Given the description of an element on the screen output the (x, y) to click on. 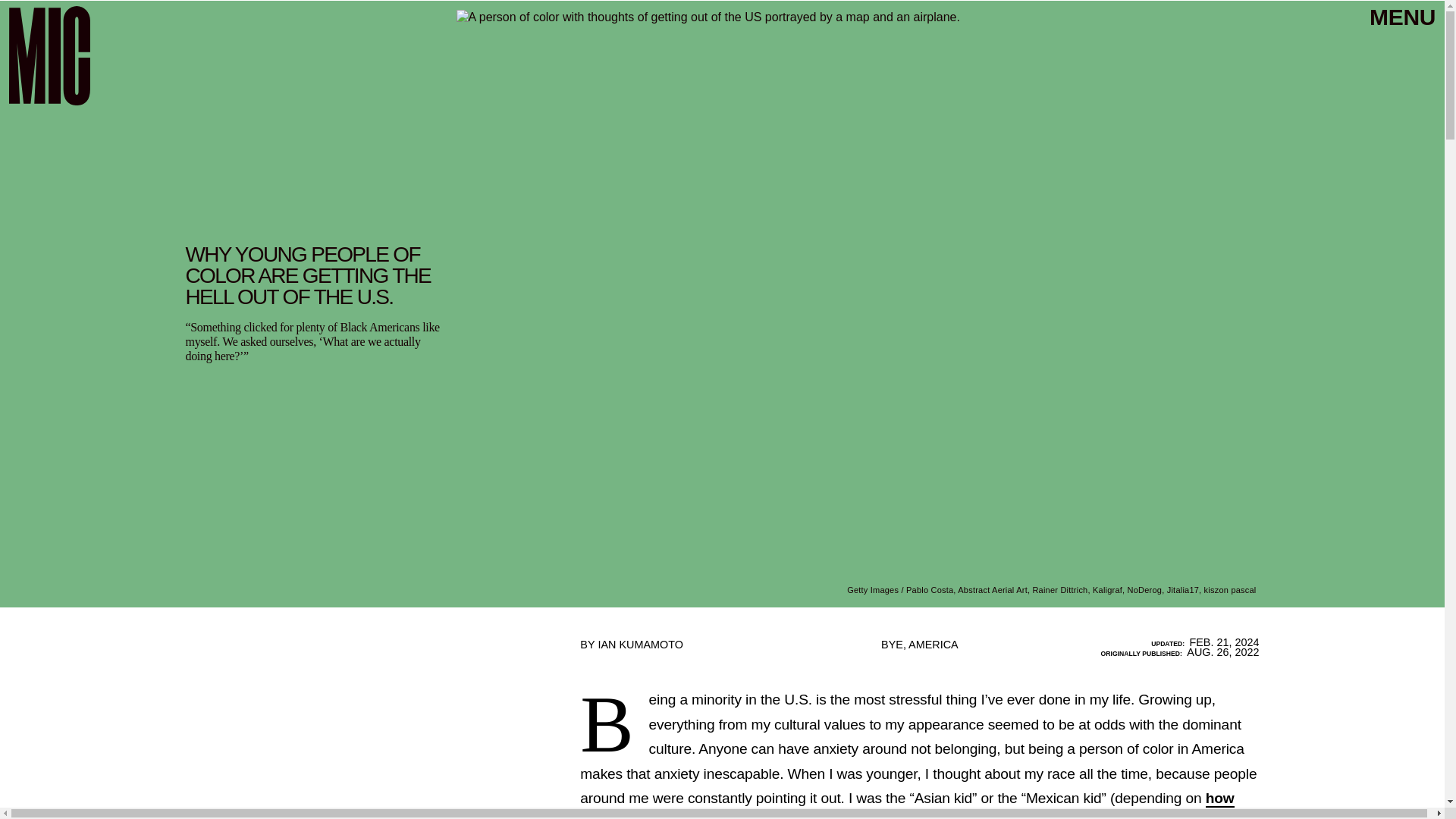
how people perceived my race (906, 804)
IAN KUMAMOTO (639, 644)
Mic (49, 55)
